Given the description of an element on the screen output the (x, y) to click on. 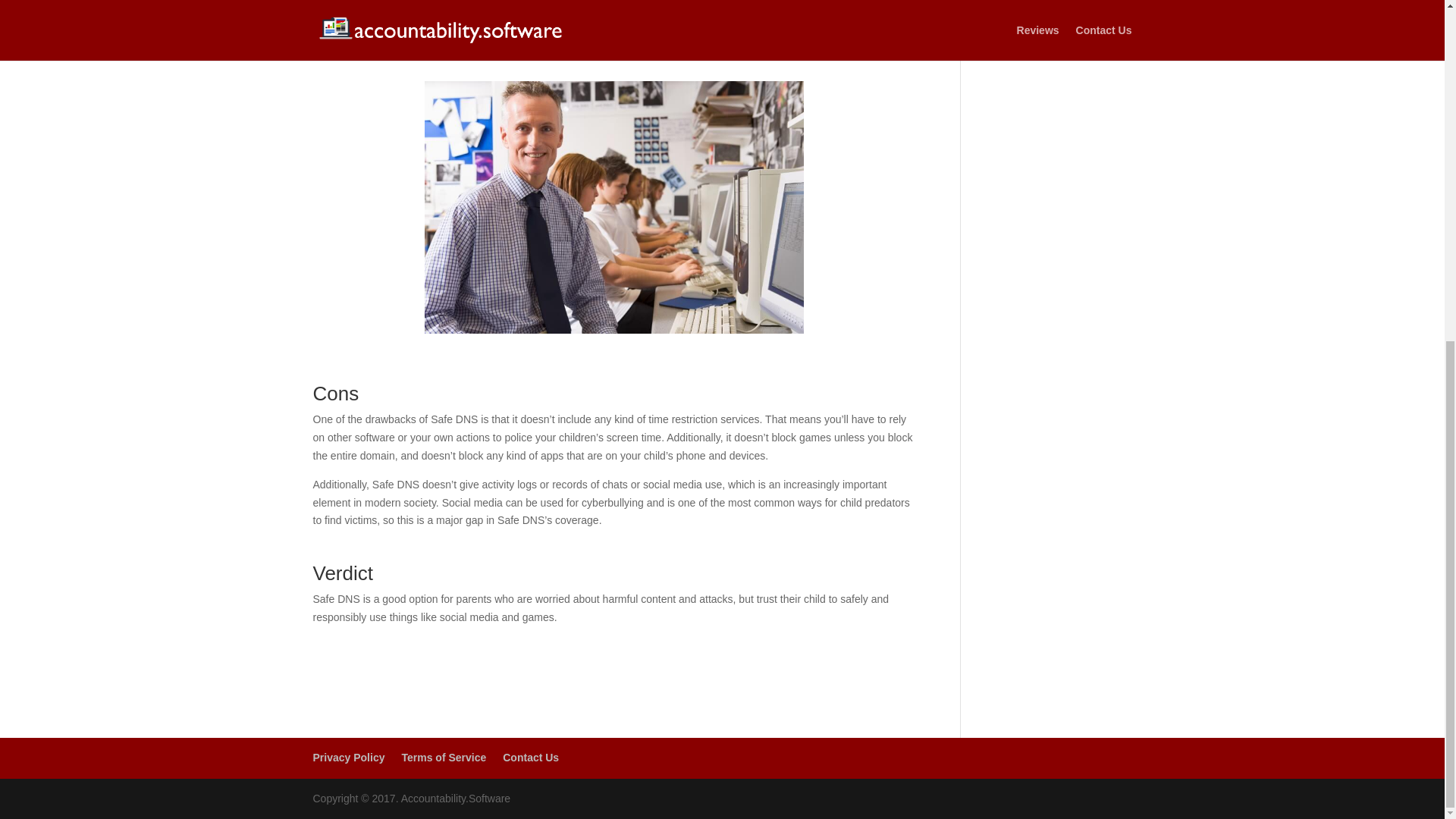
Contact Us (530, 757)
Terms of Service (443, 757)
Privacy Policy (348, 757)
